Given the description of an element on the screen output the (x, y) to click on. 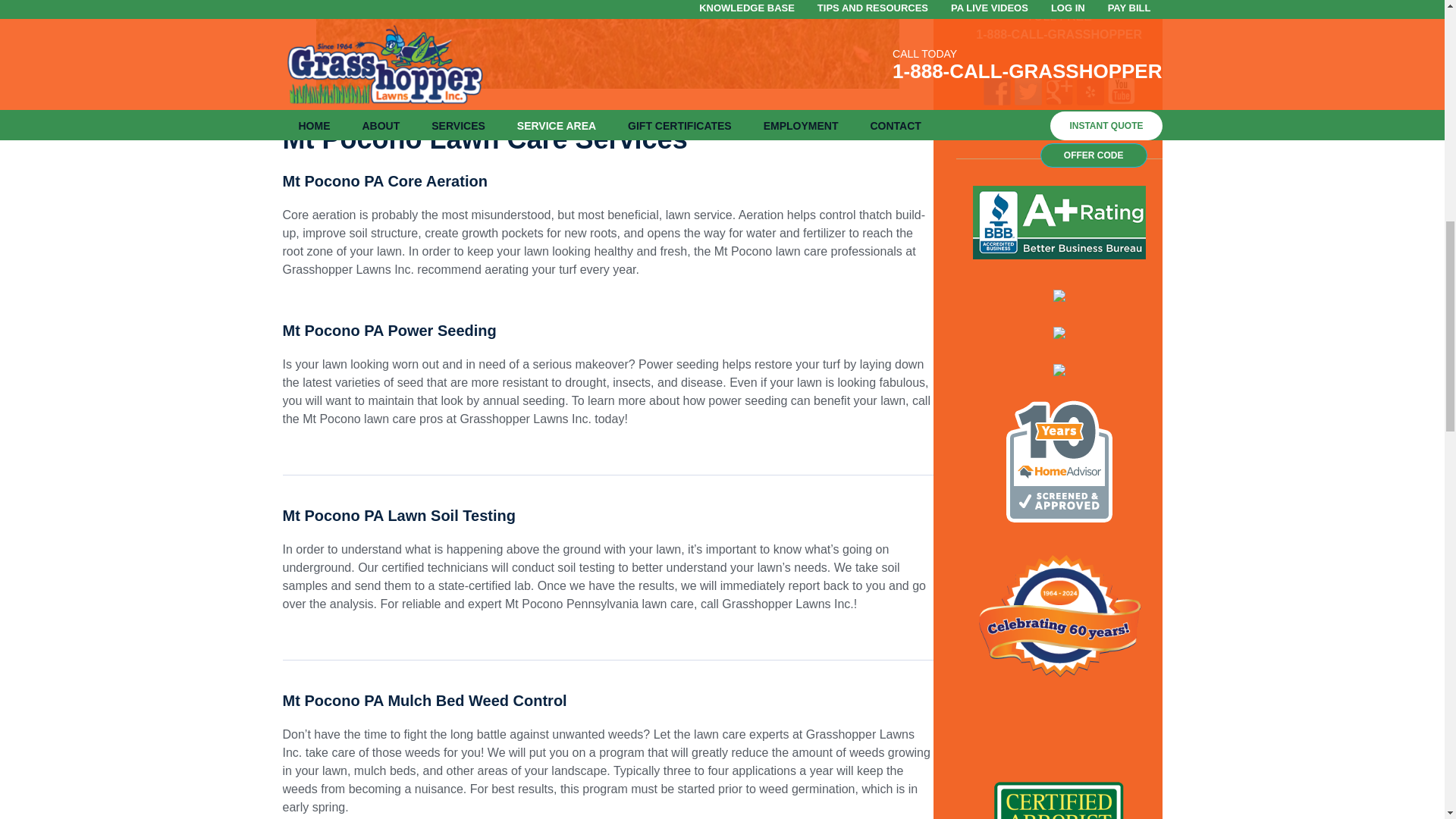
Follow us on Twitter (1028, 91)
Find us on YouTube (1121, 91)
Review us on Yelp (1090, 91)
Mt Pocono Lawn Care (607, 44)
Follow us on Facebook (997, 91)
